Given the description of an element on the screen output the (x, y) to click on. 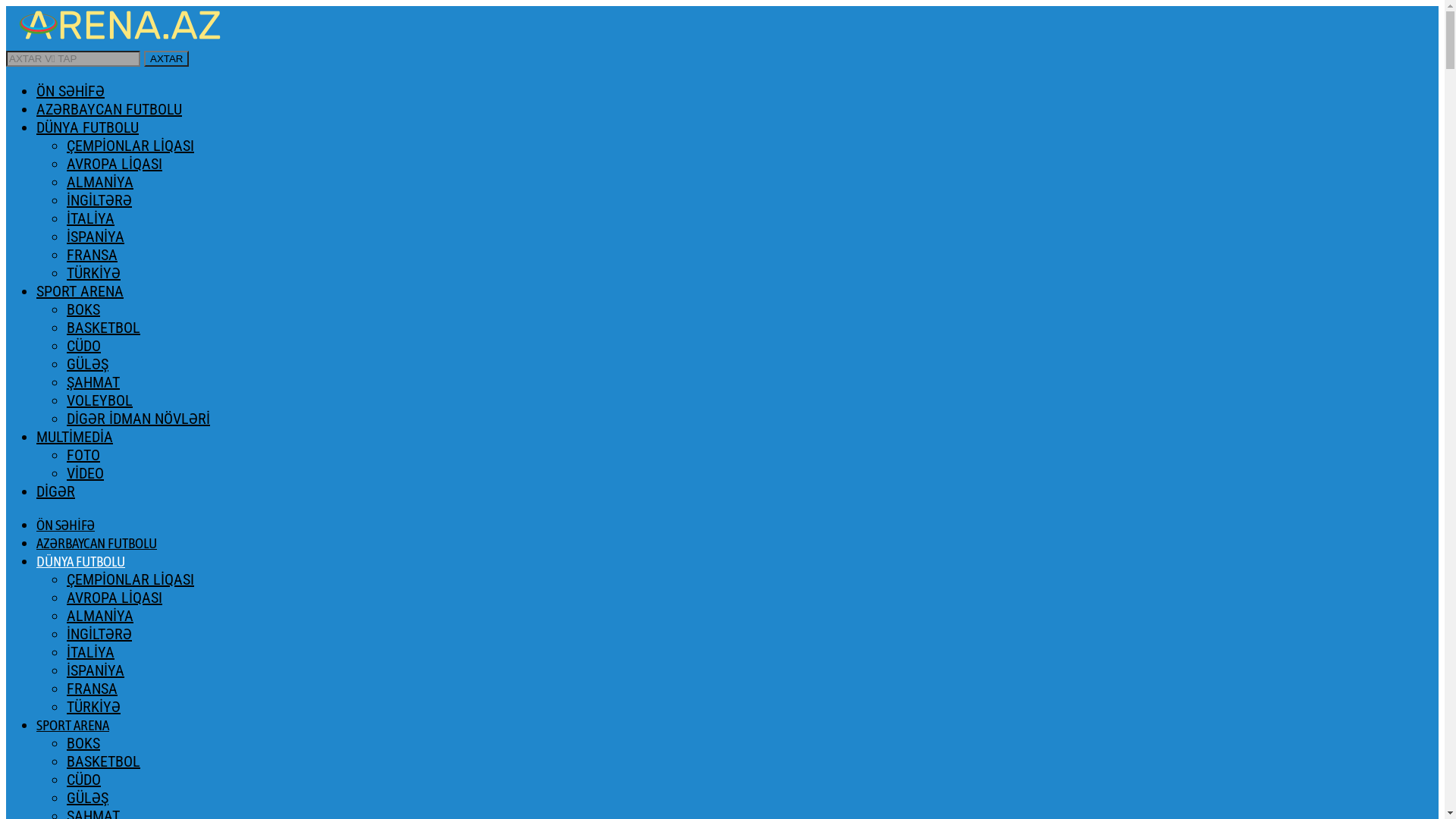
BOKS Element type: text (83, 743)
SPORT ARENA Element type: text (72, 724)
SPORT ARENA Element type: text (79, 291)
FRANSA Element type: text (91, 688)
BASKETBOL Element type: text (103, 761)
BASKETBOL Element type: text (103, 327)
FOTO Element type: text (83, 454)
BOKS Element type: text (83, 309)
FRANSA Element type: text (91, 254)
VOLEYBOL Element type: text (99, 400)
AXTAR Element type: text (166, 58)
